Given the description of an element on the screen output the (x, y) to click on. 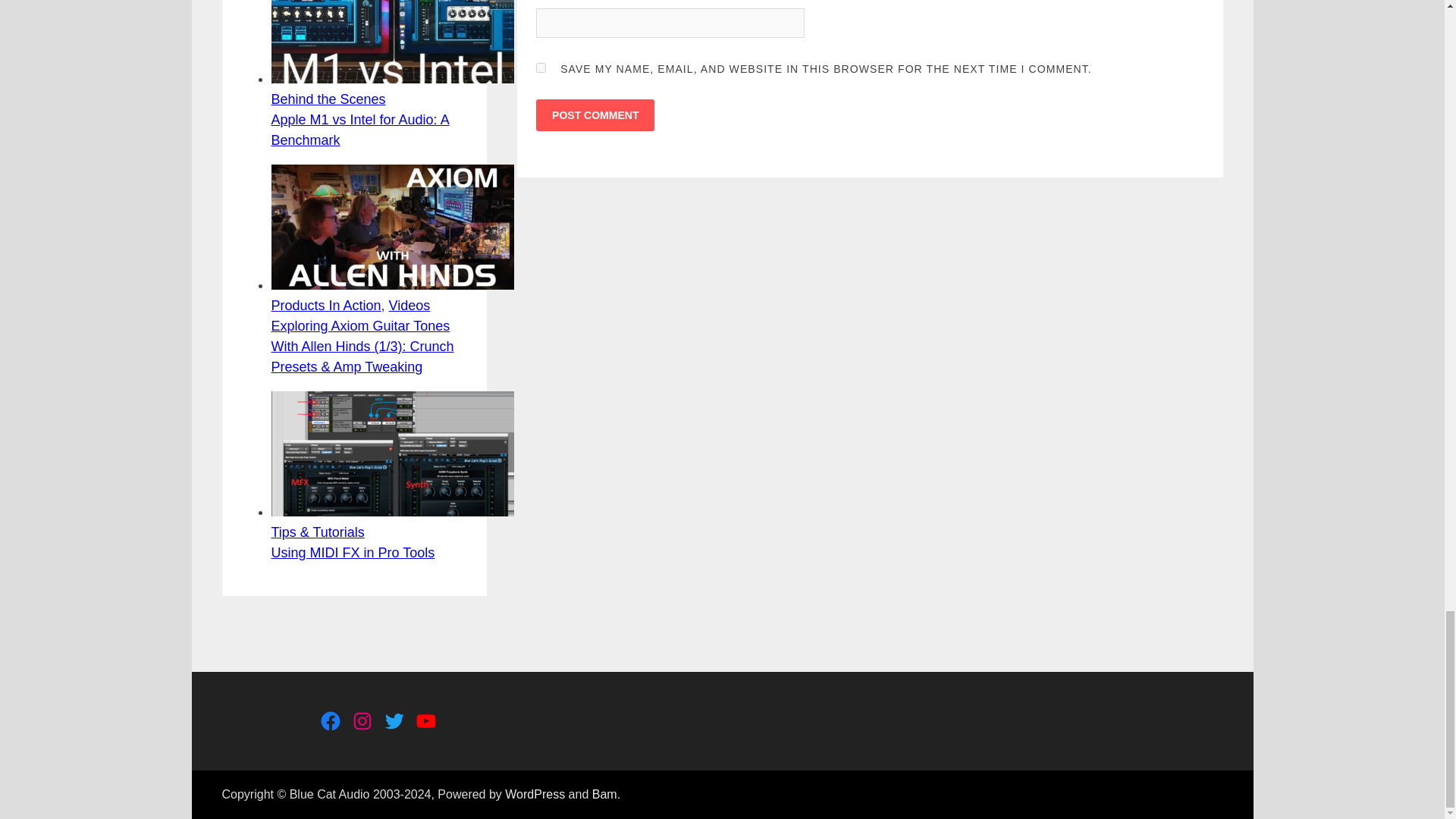
Post Comment (594, 115)
yes (540, 67)
Post Comment (594, 115)
